Given the description of an element on the screen output the (x, y) to click on. 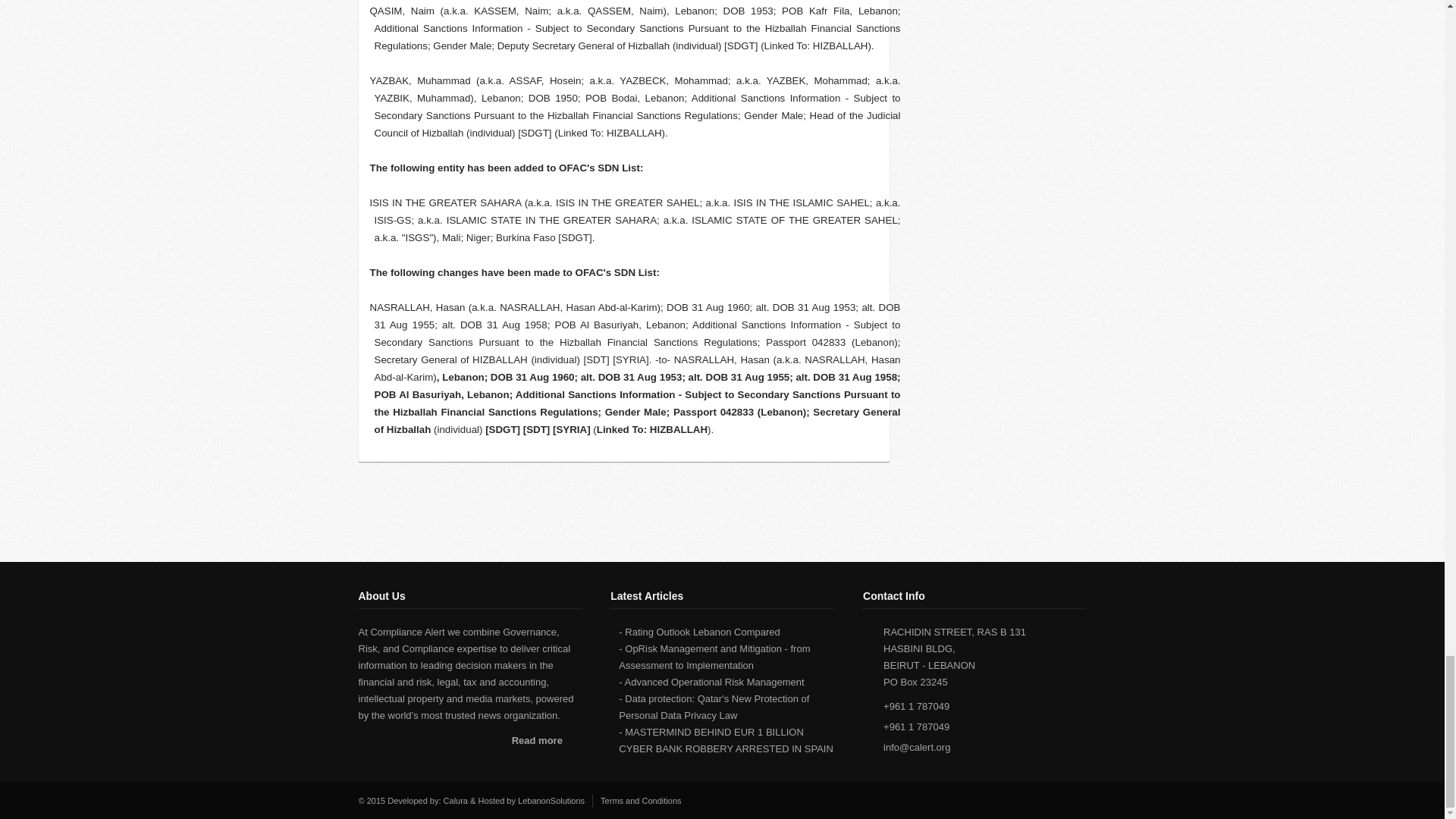
Twitter (1058, 800)
LebanonSolutions (551, 800)
Facebook (1039, 800)
Linkedin (1078, 800)
Linkedin (1078, 800)
Rating Outlook Lebanon Compared (702, 632)
Twitter (1058, 800)
Read more (546, 741)
Advanced Operational Risk Management (714, 681)
Terms and Conditions (640, 800)
Calura (455, 800)
Facebook (1039, 800)
